Given the description of an element on the screen output the (x, y) to click on. 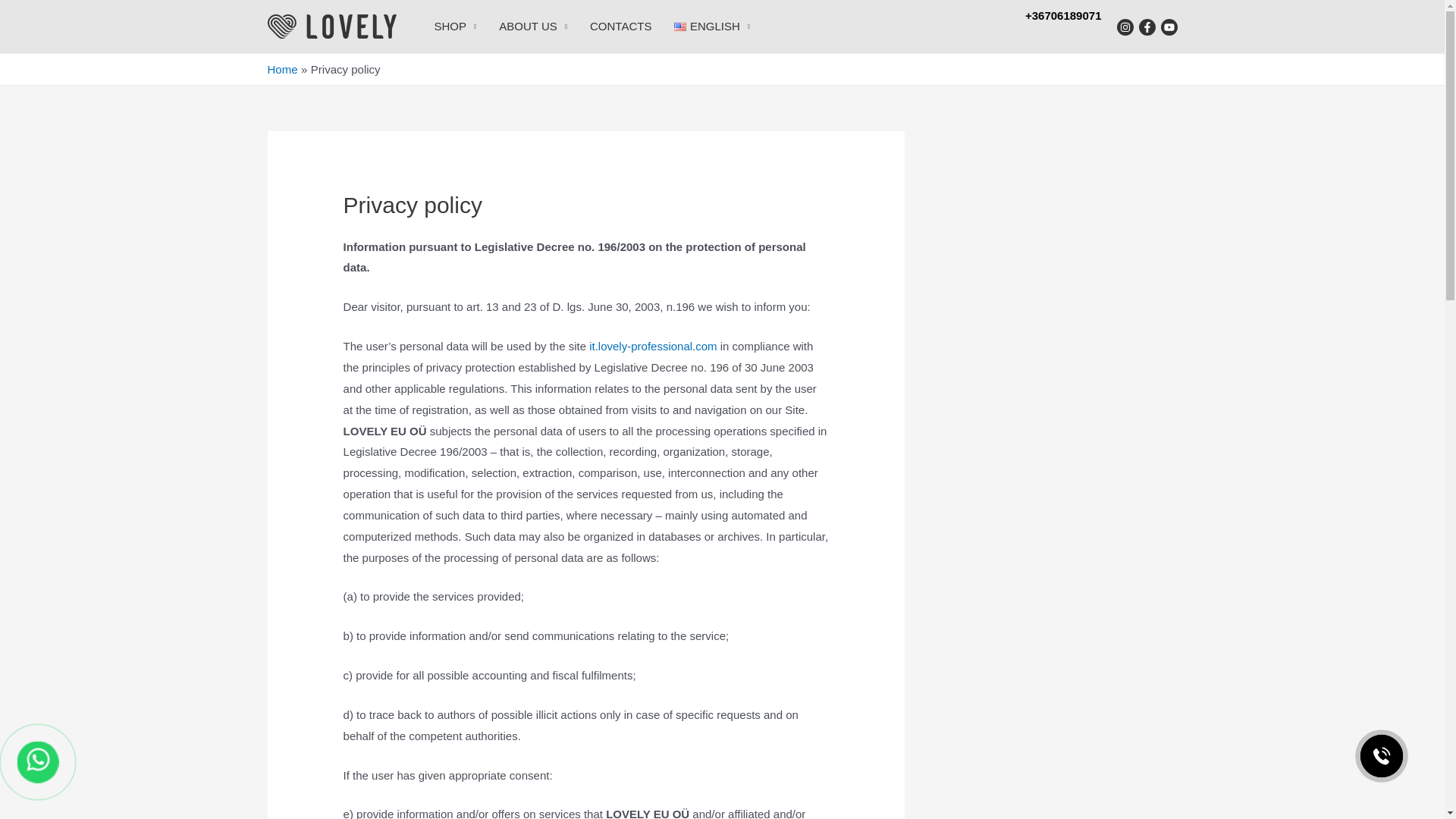
ABOUT US (532, 26)
CONTACTS (620, 26)
ENGLISH (711, 26)
SHOP (455, 26)
